Given the description of an element on the screen output the (x, y) to click on. 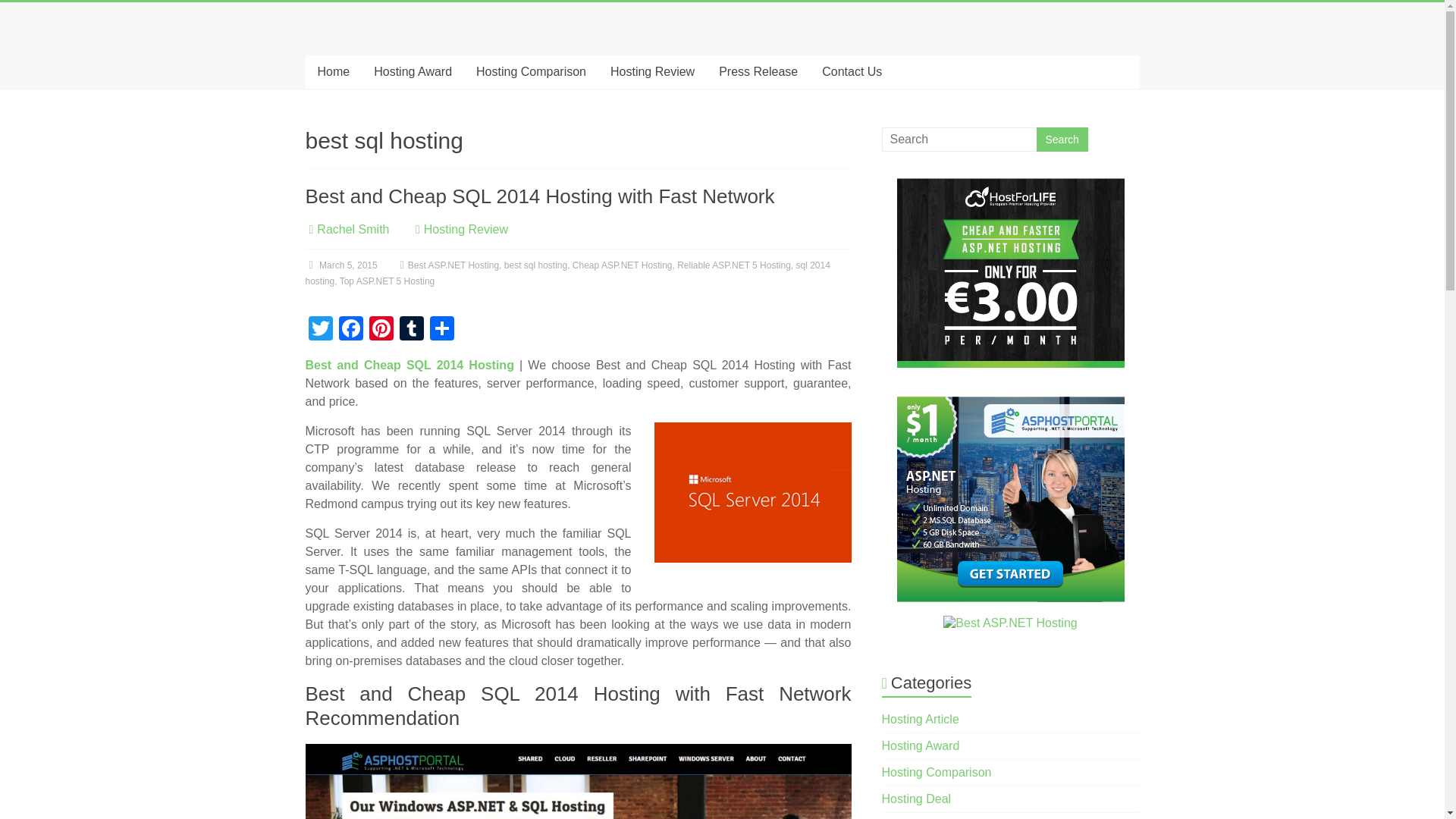
Hosting Deal (917, 798)
Best Cheap Hosting ASP.NET Reviews (408, 364)
Home (332, 71)
March 5, 2015 (340, 265)
Hosting Award (920, 745)
Hosting Article (920, 718)
Best and Cheap SQL 2014 Hosting with Fast Network (539, 196)
Cheap ASP.NET Hosting (622, 265)
Best and Cheap SQL 2014 Hosting (408, 364)
Hosting Comparison (531, 71)
Best ASP.NET Hosting (453, 265)
Top ASP.NET 5 Hosting (387, 281)
7:59 am (340, 265)
sql 2014 hosting (566, 273)
Press Release (757, 71)
